Given the description of an element on the screen output the (x, y) to click on. 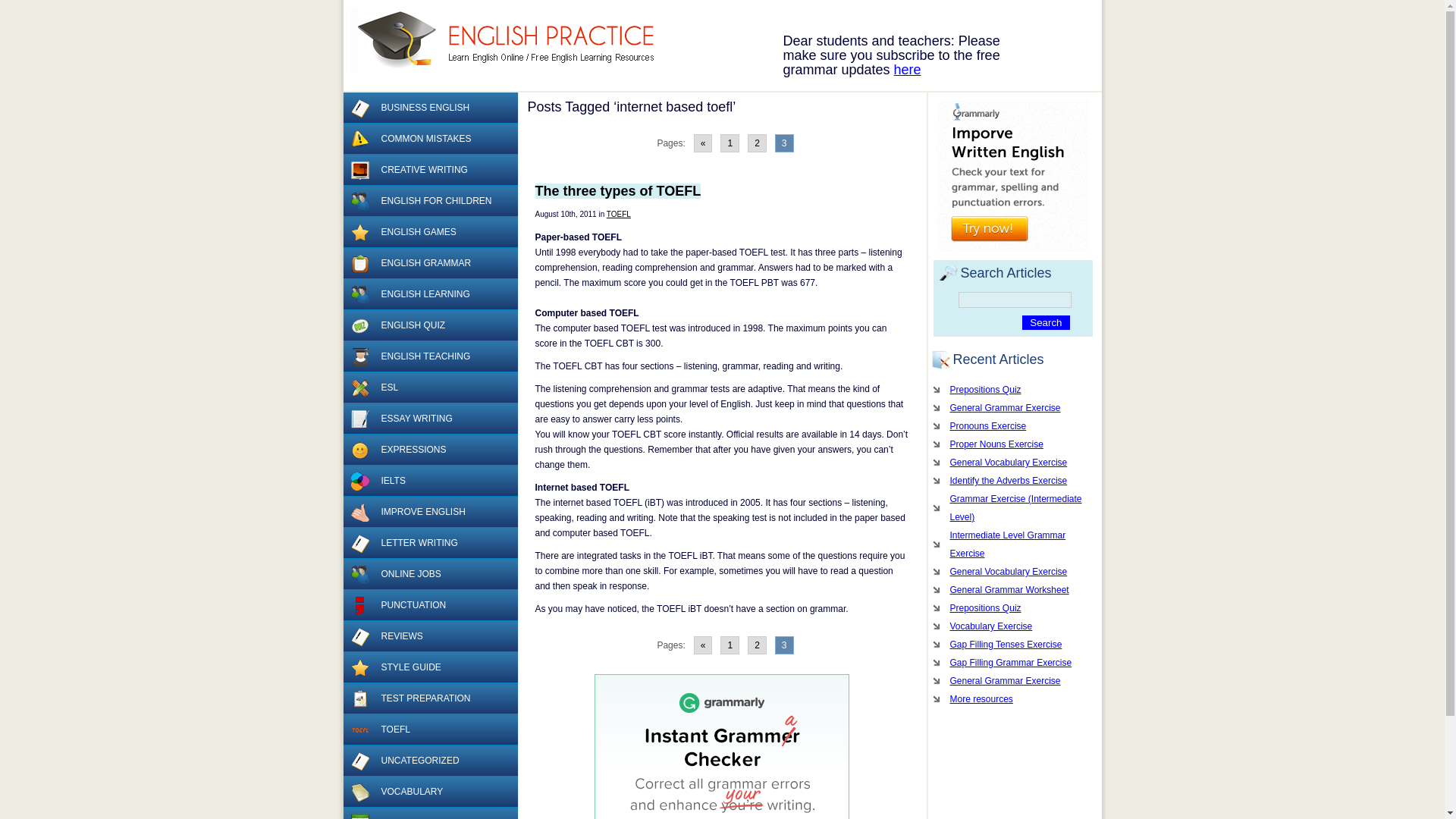
ESSAY WRITING (429, 418)
English Quiz (359, 325)
CREATIVE WRITING (429, 169)
TOEFL (618, 213)
2 (757, 143)
IELTS (429, 481)
VOCABULARY (429, 791)
The three types of TOEFL (618, 191)
UNCATEGORIZED (429, 760)
PUNCTUATION (429, 604)
Search (1045, 322)
EXPRESSIONS (429, 450)
ENGLISH GAMES (429, 232)
WORDS (429, 813)
Common Mistakes (359, 139)
